Given the description of an element on the screen output the (x, y) to click on. 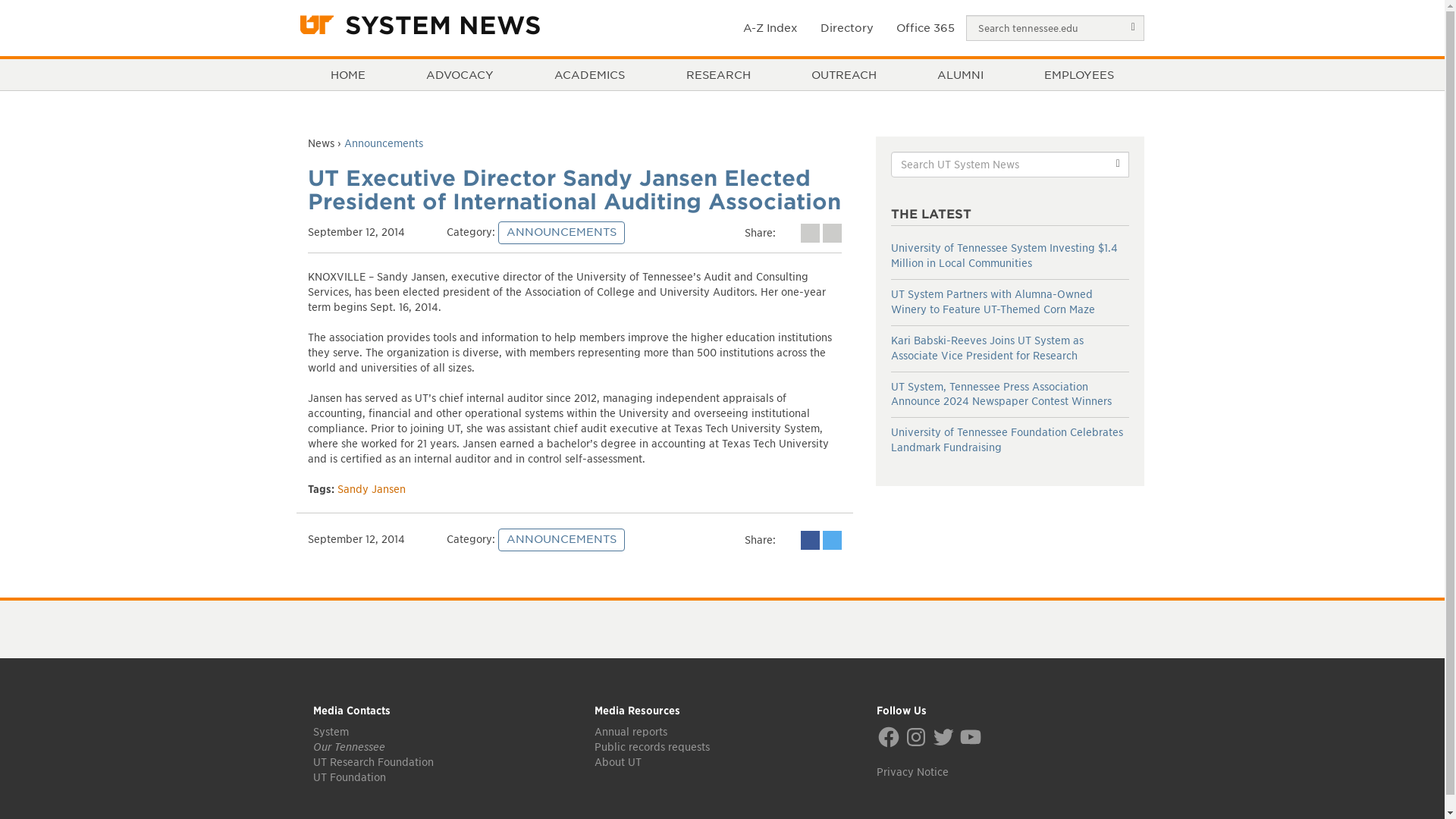
Announcements (383, 143)
Alumni (960, 74)
Academics (589, 74)
Office 365 (925, 27)
Public records requests (652, 746)
Instagram (916, 736)
EMPLOYEES (1078, 74)
SYSTEM NEWS (443, 25)
OUTREACH (843, 74)
